Given the description of an element on the screen output the (x, y) to click on. 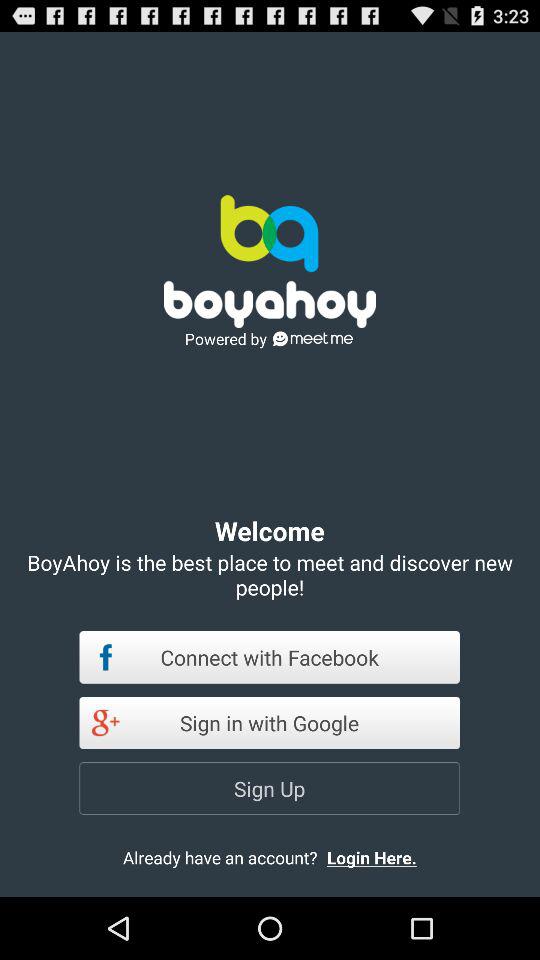
select app next to the already have an (388, 857)
